Given the description of an element on the screen output the (x, y) to click on. 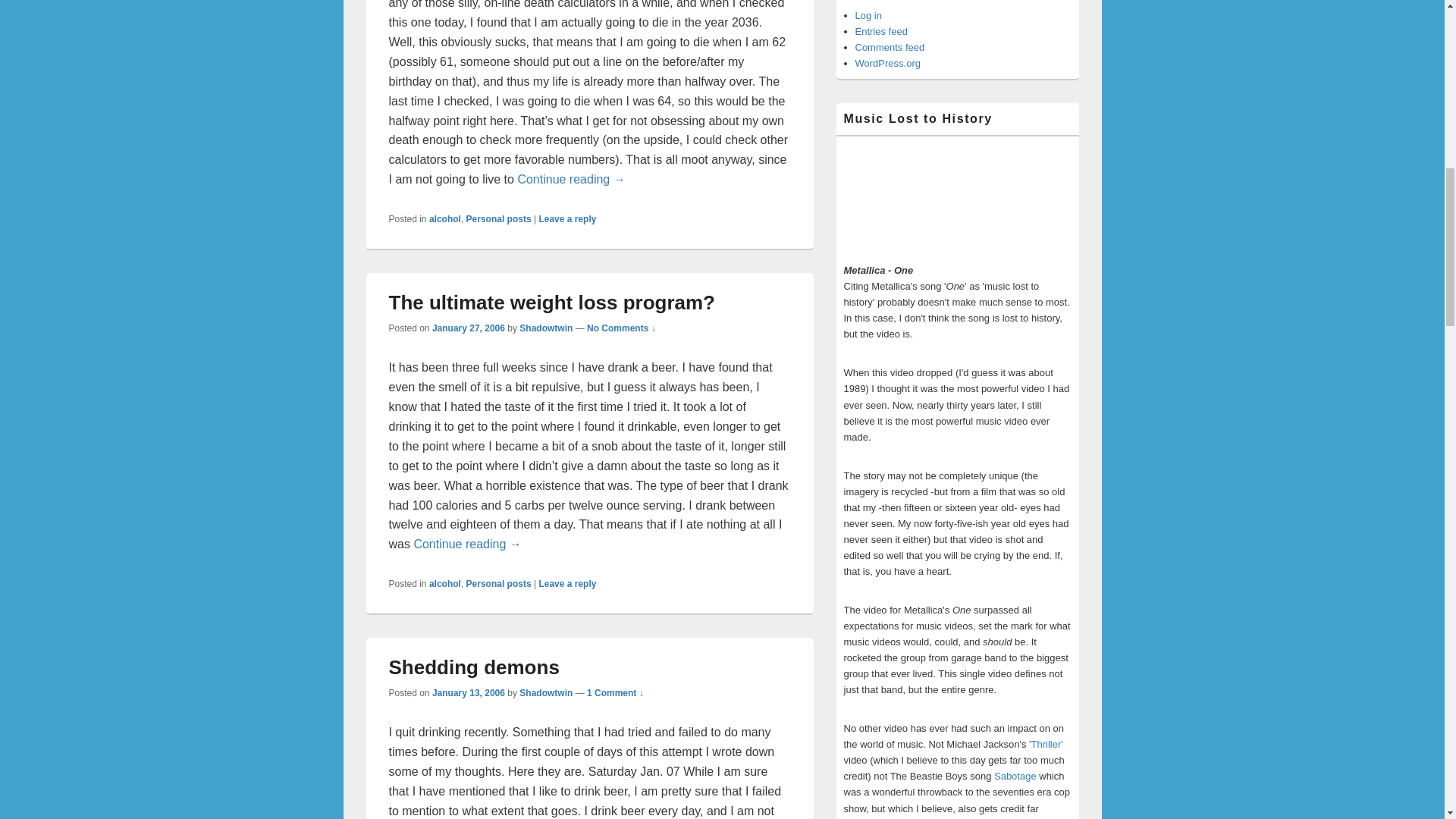
January 13, 2006 (468, 692)
Shadowtwin (545, 692)
View all posts by Shadowtwin (545, 327)
7:28 am (468, 327)
View all posts by Shadowtwin (545, 692)
Personal posts (498, 583)
alcohol (445, 583)
January 27, 2006 (468, 327)
The ultimate weight loss program? (551, 302)
Permalink to Shedding demons (473, 667)
Leave a reply (566, 218)
Permalink to The ultimate weight loss program? (551, 302)
Shedding demons (473, 667)
Shadowtwin (545, 327)
7:29 am (468, 692)
